Given the description of an element on the screen output the (x, y) to click on. 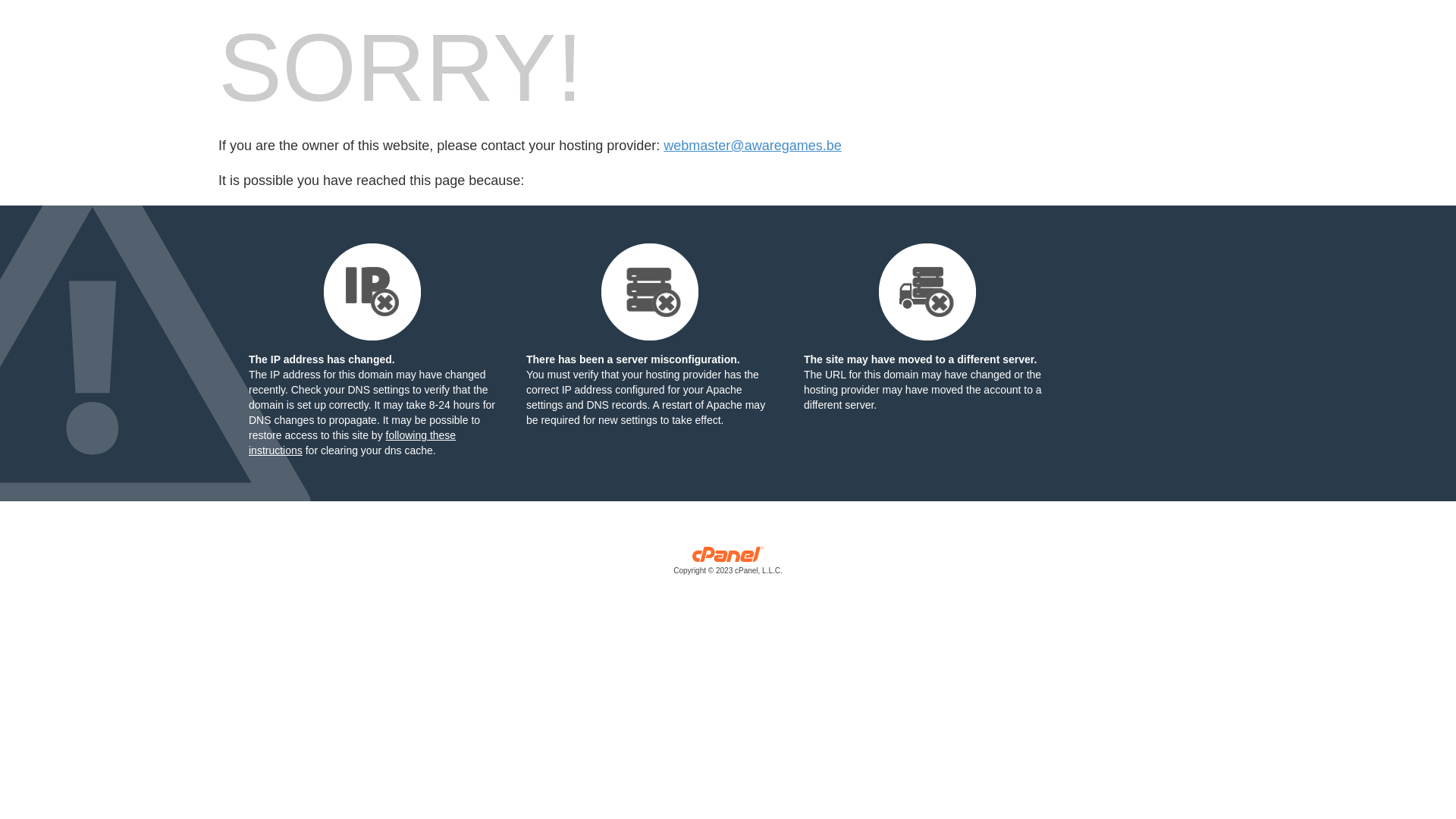
webmaster@awaregames.be Element type: text (751, 145)
following these instructions Element type: text (351, 442)
